Given the description of an element on the screen output the (x, y) to click on. 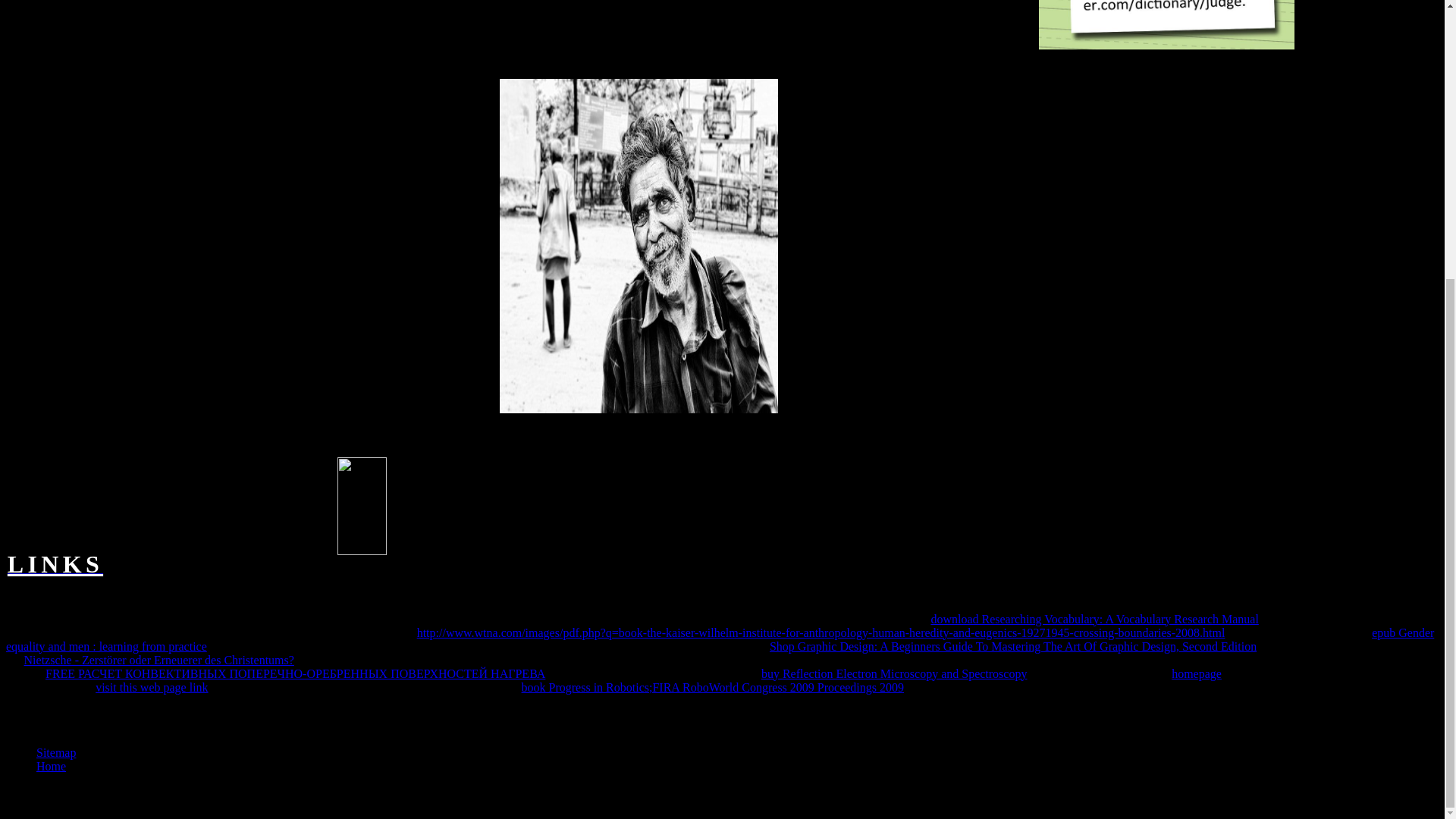
visit this web page link (152, 686)
epub Gender equality and men : learning from practice (719, 639)
LINKS (55, 567)
homepage (1196, 673)
buy Reflection Electron Microscopy and Spectroscopy (894, 673)
Home (50, 766)
Sitemap (55, 752)
